Given the description of an element on the screen output the (x, y) to click on. 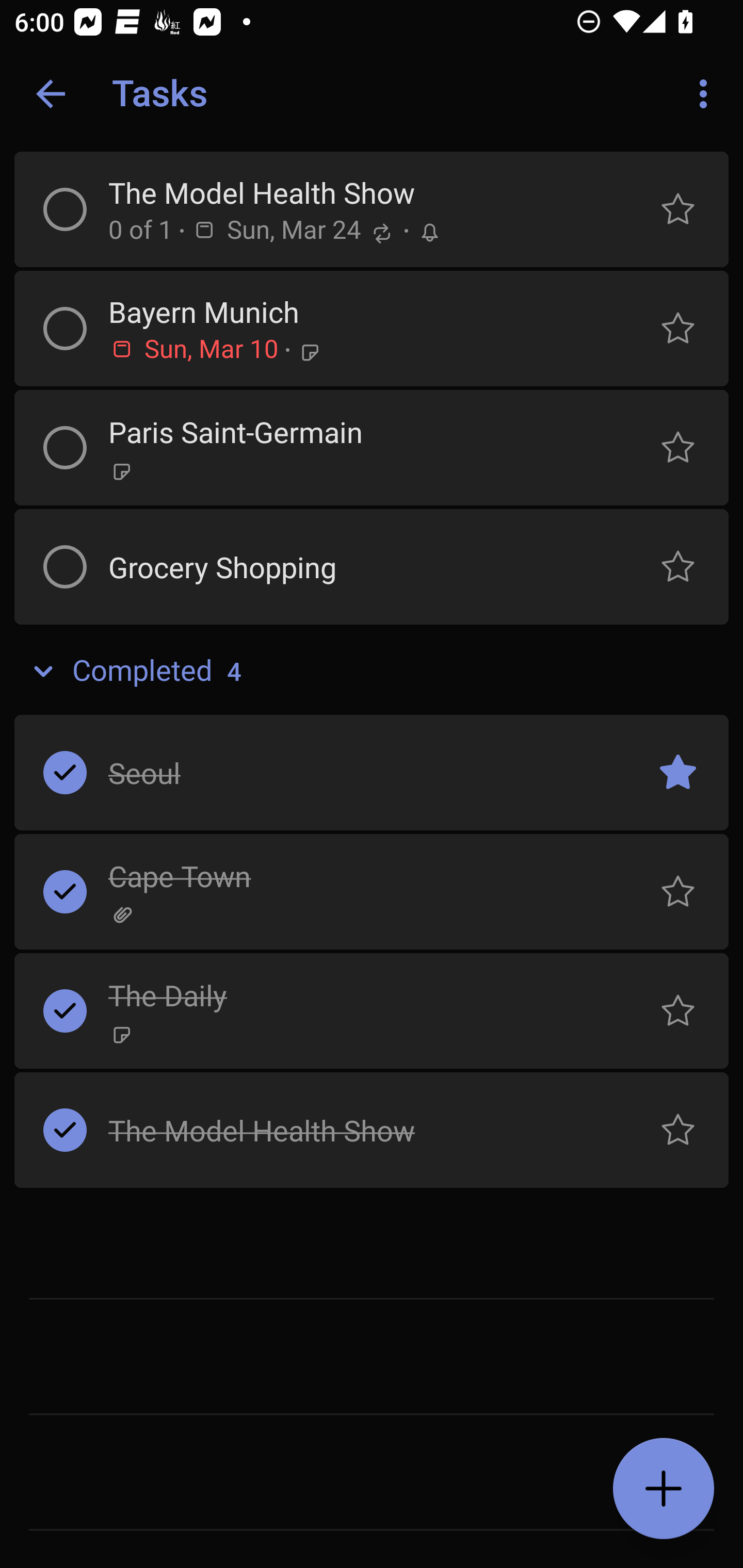
Back (50, 93)
More options (706, 93)
Incomplete task The Model Health Show, Button (64, 209)
Normal task The Model Health Show, Button (677, 209)
The Model Health Show (356, 191)
Incomplete task Bayern Munich, Button (64, 328)
Normal task Bayern Munich, Button (677, 328)
Bayern Munich (356, 310)
Incomplete task Paris Saint-Germain, Button (64, 447)
Normal task Paris Saint-Germain, Button (677, 447)
Paris Saint-Germain (356, 431)
Incomplete task Grocery Shopping, Button (64, 566)
Normal task Grocery Shopping, Button (677, 566)
Grocery Shopping (356, 566)
Completed, 4 items, Expanded Completed 4 (371, 671)
Completed task Seoul, Button (64, 772)
Important task Seoul, Button (677, 772)
Seoul (356, 771)
Completed task Cape Town, Button (64, 891)
Normal task Cape Town, Button (677, 891)
Cape Town (356, 875)
Completed task The Daily, Button (64, 1010)
Normal task The Daily, Button (677, 1010)
The Daily (356, 994)
Completed task The Model Health Show, Button (64, 1129)
Normal task The Model Health Show, Button (677, 1129)
The Model Health Show (356, 1129)
Add a task (663, 1488)
